Given the description of an element on the screen output the (x, y) to click on. 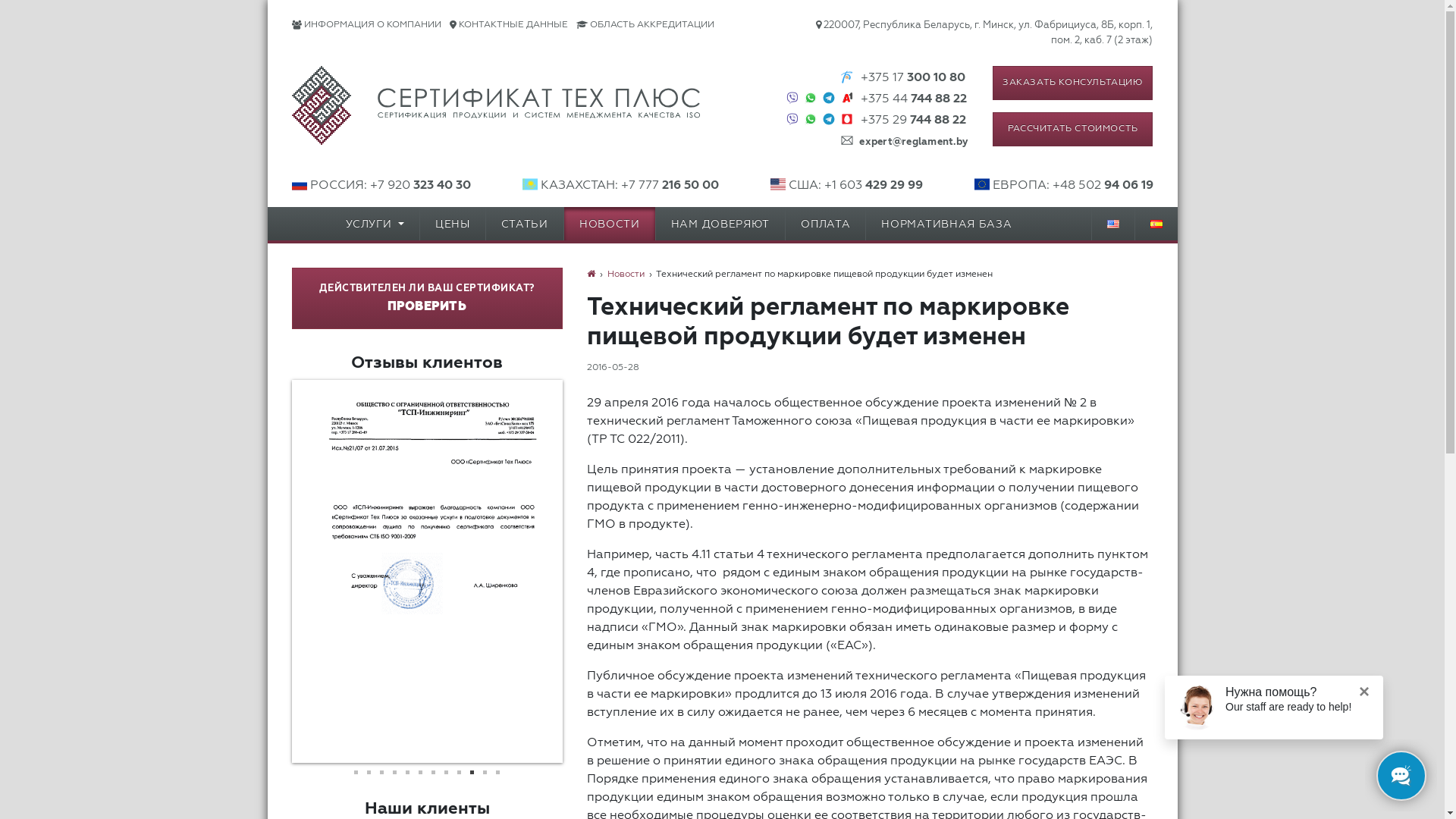
+375 17 300 10 80 Element type: text (912, 78)
4 Element type: text (394, 772)
7 Element type: text (433, 772)
1 Element type: text (355, 772)
9 Element type: text (459, 772)
6 Element type: text (420, 772)
12 Element type: text (497, 772)
+375 29 744 88 22 Element type: text (913, 120)
+375 44 744 88 22 Element type: text (913, 99)
10 Element type: text (471, 772)
2 Element type: text (368, 772)
3 Element type: text (381, 772)
8 Element type: text (446, 772)
11 Element type: text (484, 772)
5 Element type: text (407, 772)
